Given the description of an element on the screen output the (x, y) to click on. 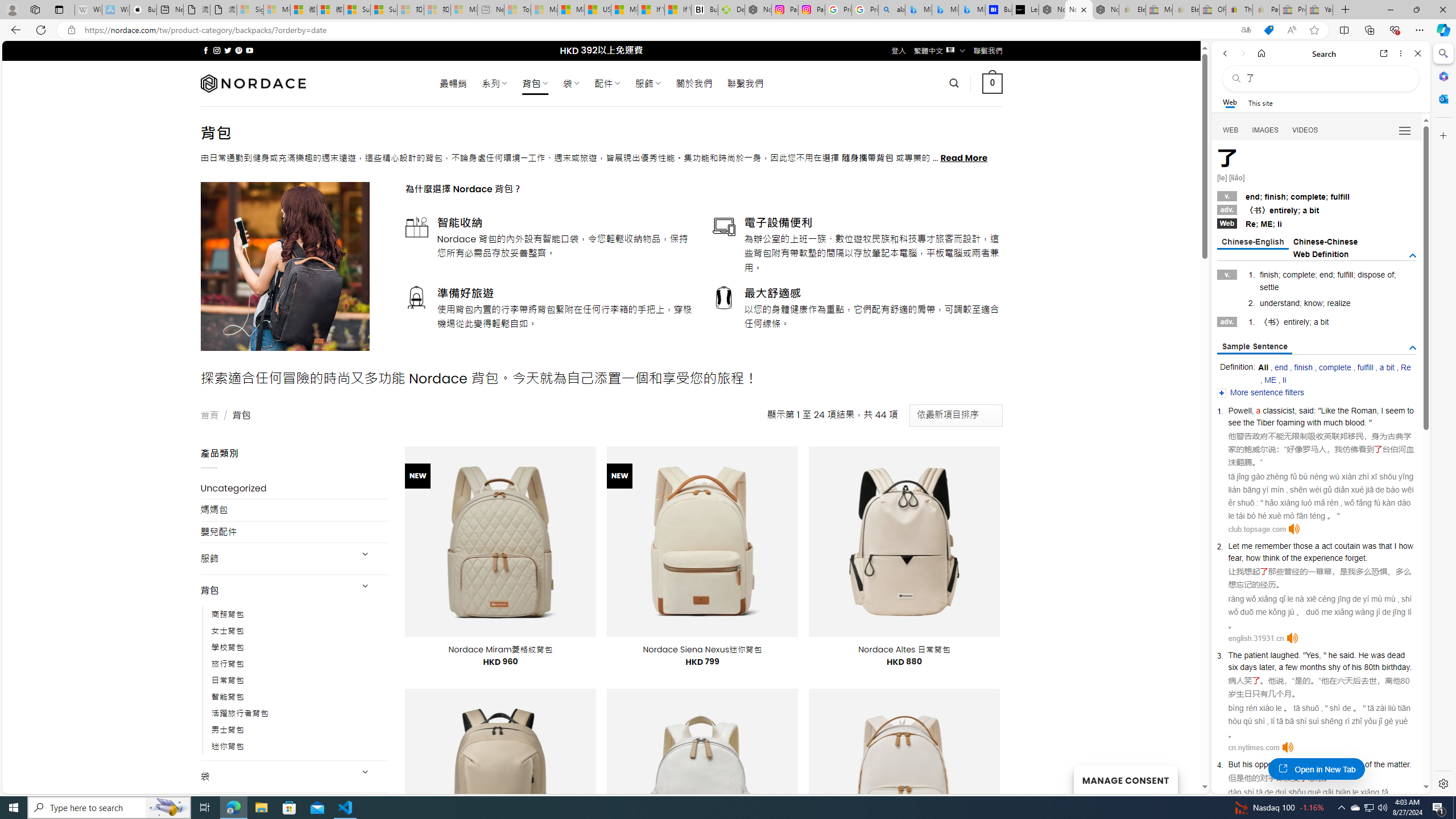
US Heat Deaths Soared To Record High Last Year (597, 9)
was (1378, 655)
fulfill (1364, 367)
  0   (992, 83)
later (1265, 666)
days (1248, 666)
